Given the description of an element on the screen output the (x, y) to click on. 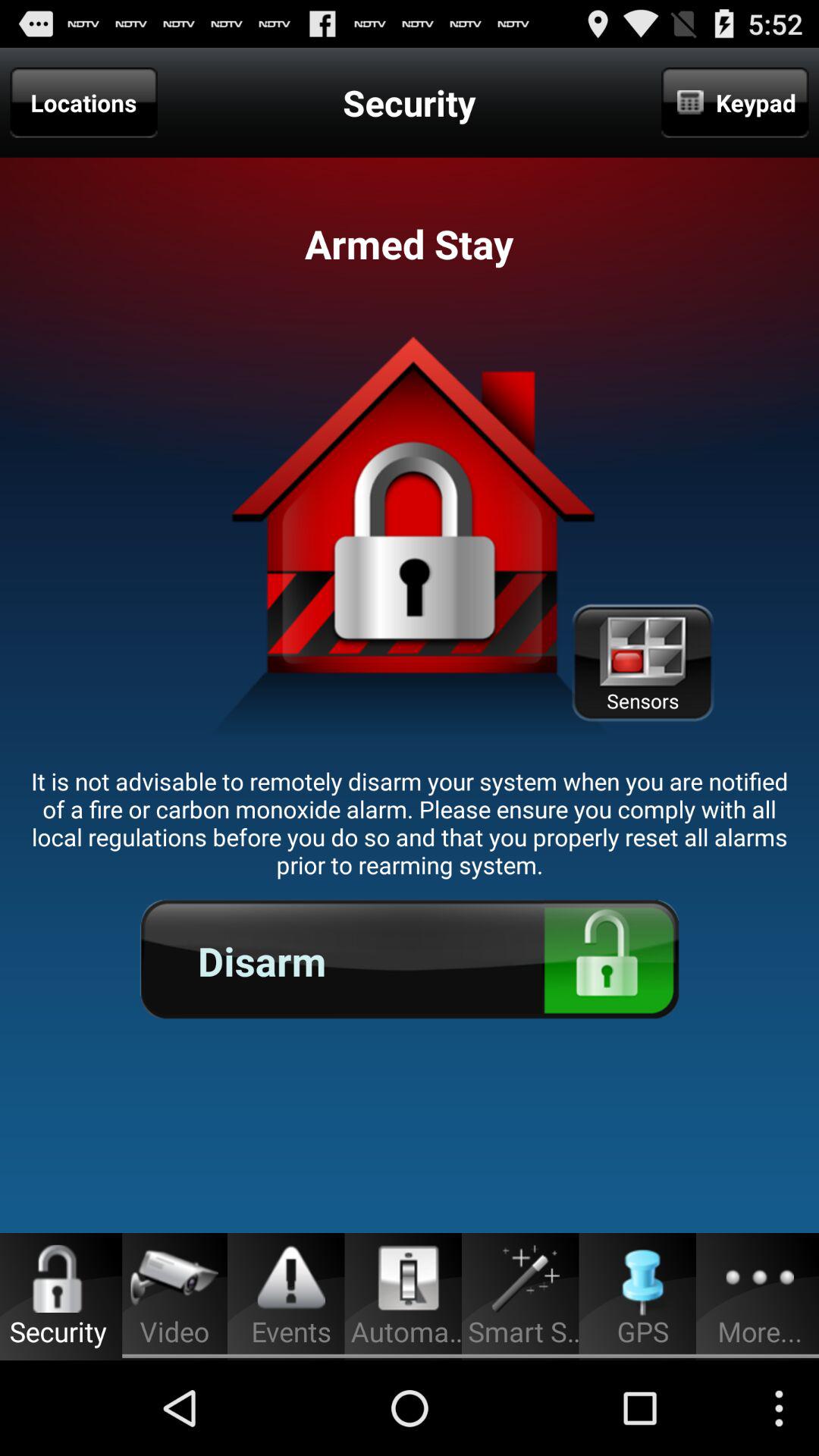
tap icon on the right (642, 662)
